Given the description of an element on the screen output the (x, y) to click on. 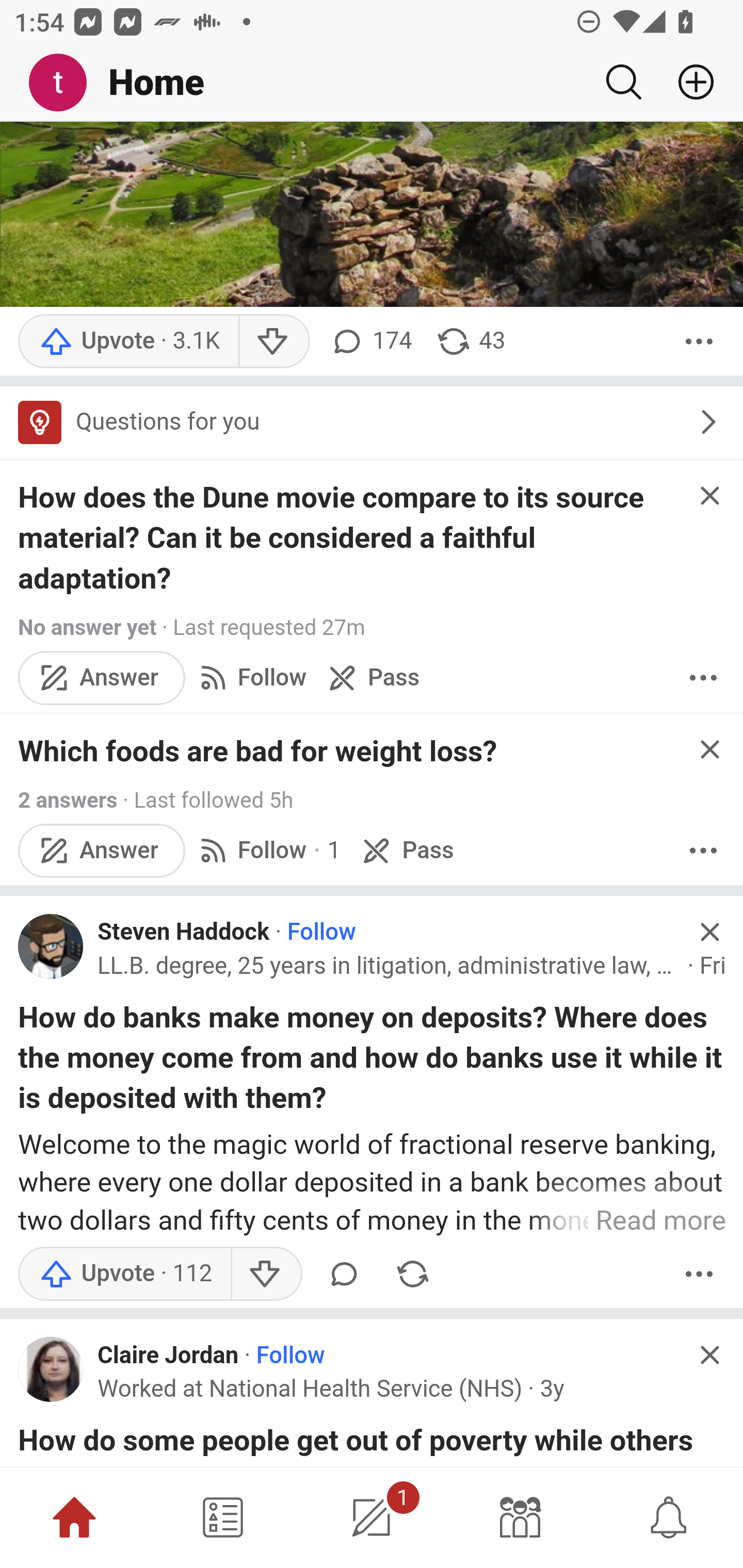
Me (64, 83)
Search (623, 82)
Add (688, 82)
Upvote (127, 342)
Downvote (273, 342)
174 comments (369, 342)
43 shares (470, 342)
More (699, 342)
Questions for you (371, 422)
Hide (709, 495)
No answer yet (86, 627)
Answer (101, 678)
Follow (249, 678)
Pass (371, 678)
More (703, 678)
Hide (709, 749)
Which foods are bad for weight loss? (257, 751)
2 answers 2  answers (67, 801)
Answer (101, 849)
Follow · 1 (267, 849)
Pass (405, 849)
More (703, 849)
Hide (709, 931)
Profile photo for Steven Haddock (50, 945)
Steven Haddock (184, 932)
Follow (321, 932)
Upvote (124, 1274)
Downvote (266, 1274)
Comment (343, 1274)
Share (412, 1274)
More (699, 1274)
Hide (709, 1355)
Profile photo for Claire Jordan (50, 1369)
Claire Jordan (168, 1355)
Follow (290, 1355)
1 (371, 1517)
